Given the description of an element on the screen output the (x, y) to click on. 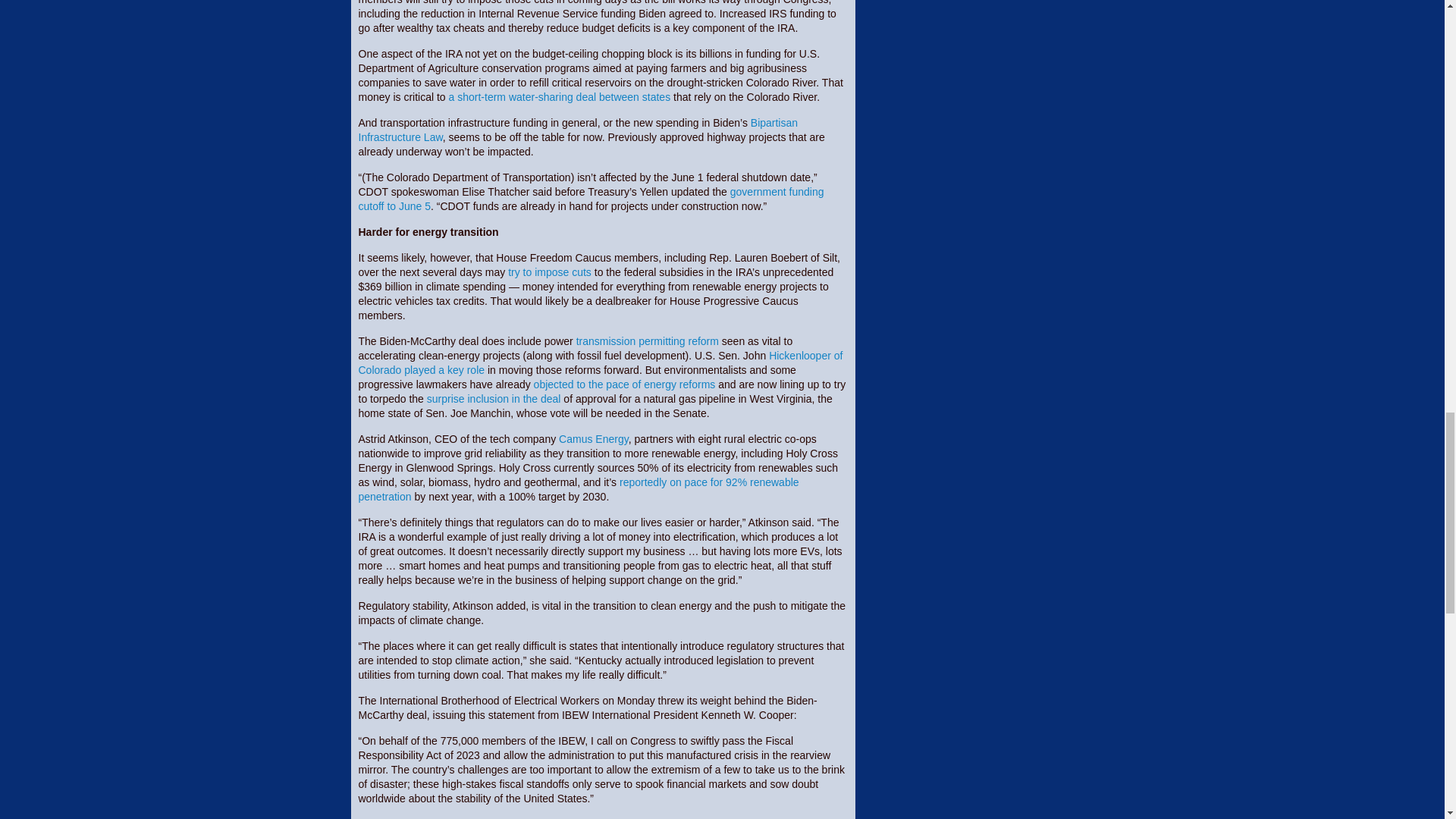
objected to the pace of energy reforms (625, 384)
government funding cutoff to June 5 (591, 198)
transmission permitting reform (647, 340)
surprise inclusion in the deal (493, 398)
Hickenlooper of Colorado played a key role (600, 362)
Bipartisan Infrastructure Law (577, 130)
try to impose cuts (549, 272)
a short-term water-sharing deal between states (559, 96)
Camus Energy (593, 439)
